Given the description of an element on the screen output the (x, y) to click on. 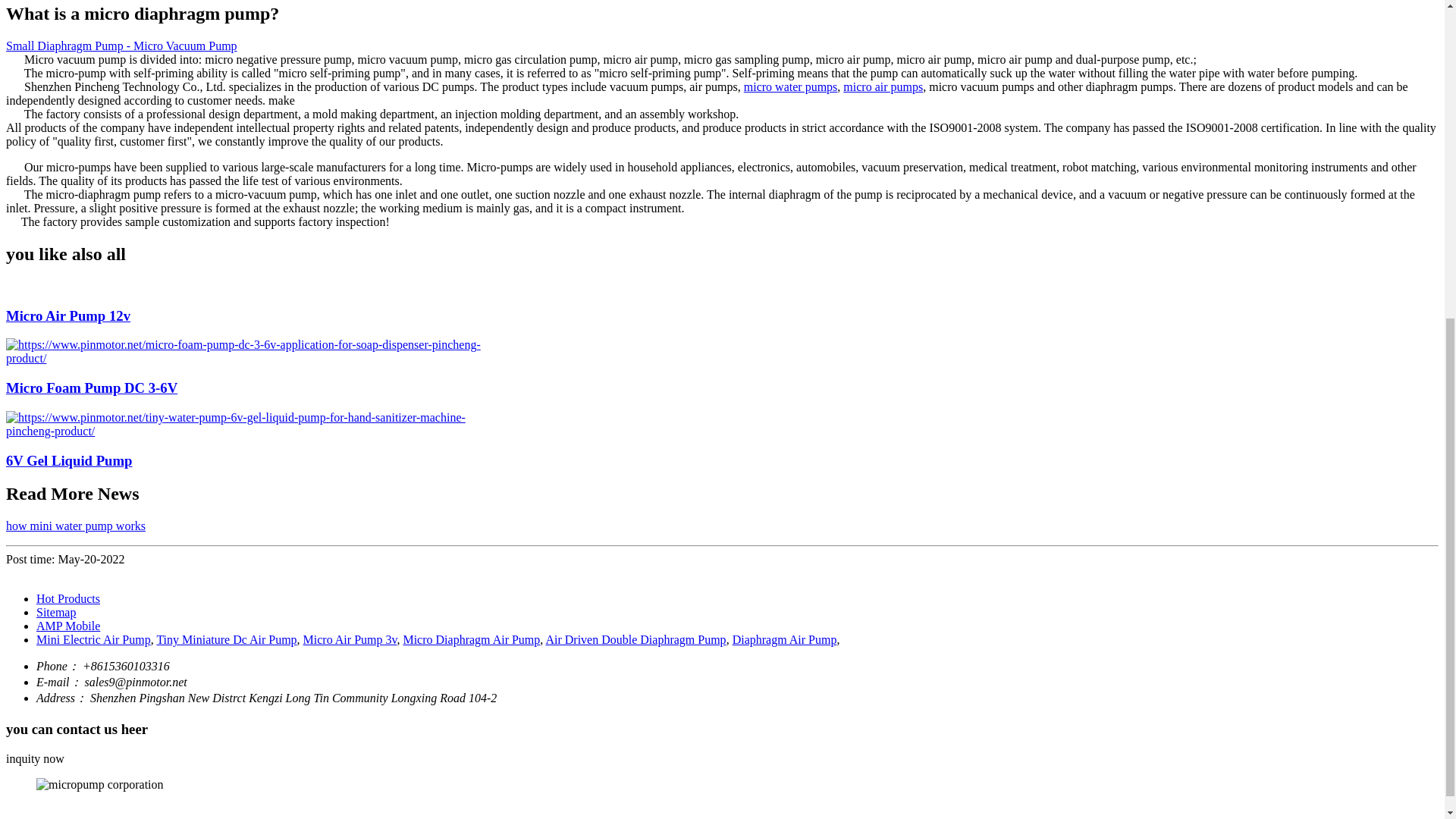
micro air pumps (883, 86)
Air Driven Double Diaphragm Pump (634, 639)
Micro Foam Pump DC 3-6V (91, 387)
Tiny Miniature Dc Air Pump (226, 639)
6V Gel Liquid Pump (68, 460)
Micro Air Pump 3v (349, 639)
6V Gel Liquid Pump (68, 460)
Mini Electric Air Pump (93, 639)
Diaphragm Air Pump (784, 639)
Micro Air Pump 12v (68, 315)
how mini water pump works (75, 525)
Hot Products (68, 598)
Micro Air Pump 12v (68, 315)
Small Diaphragm Pump - Micro Vacuum Pump (121, 45)
Micro Foam Pump DC 3-6V (91, 387)
